Given the description of an element on the screen output the (x, y) to click on. 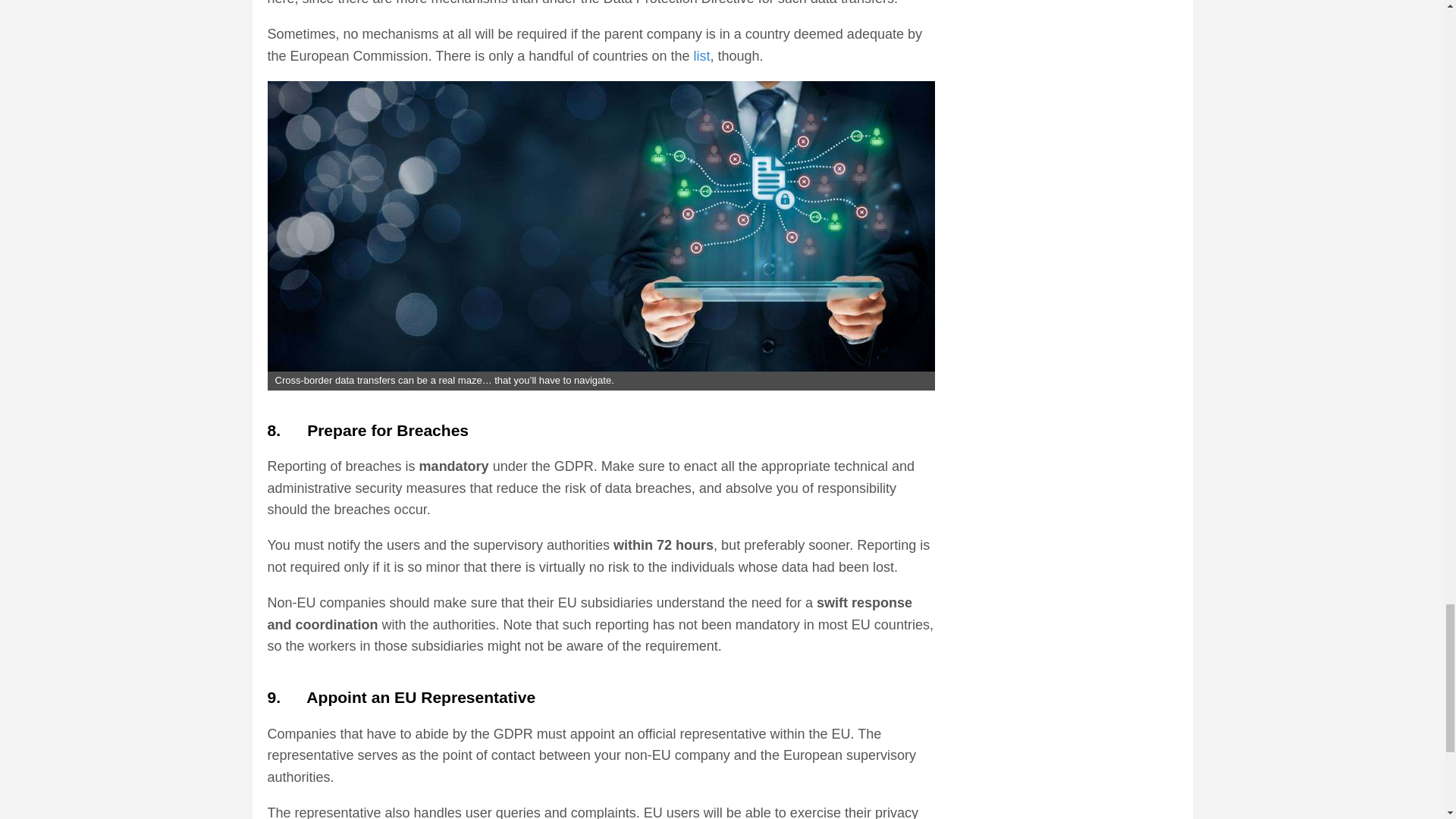
list (701, 55)
